Given the description of an element on the screen output the (x, y) to click on. 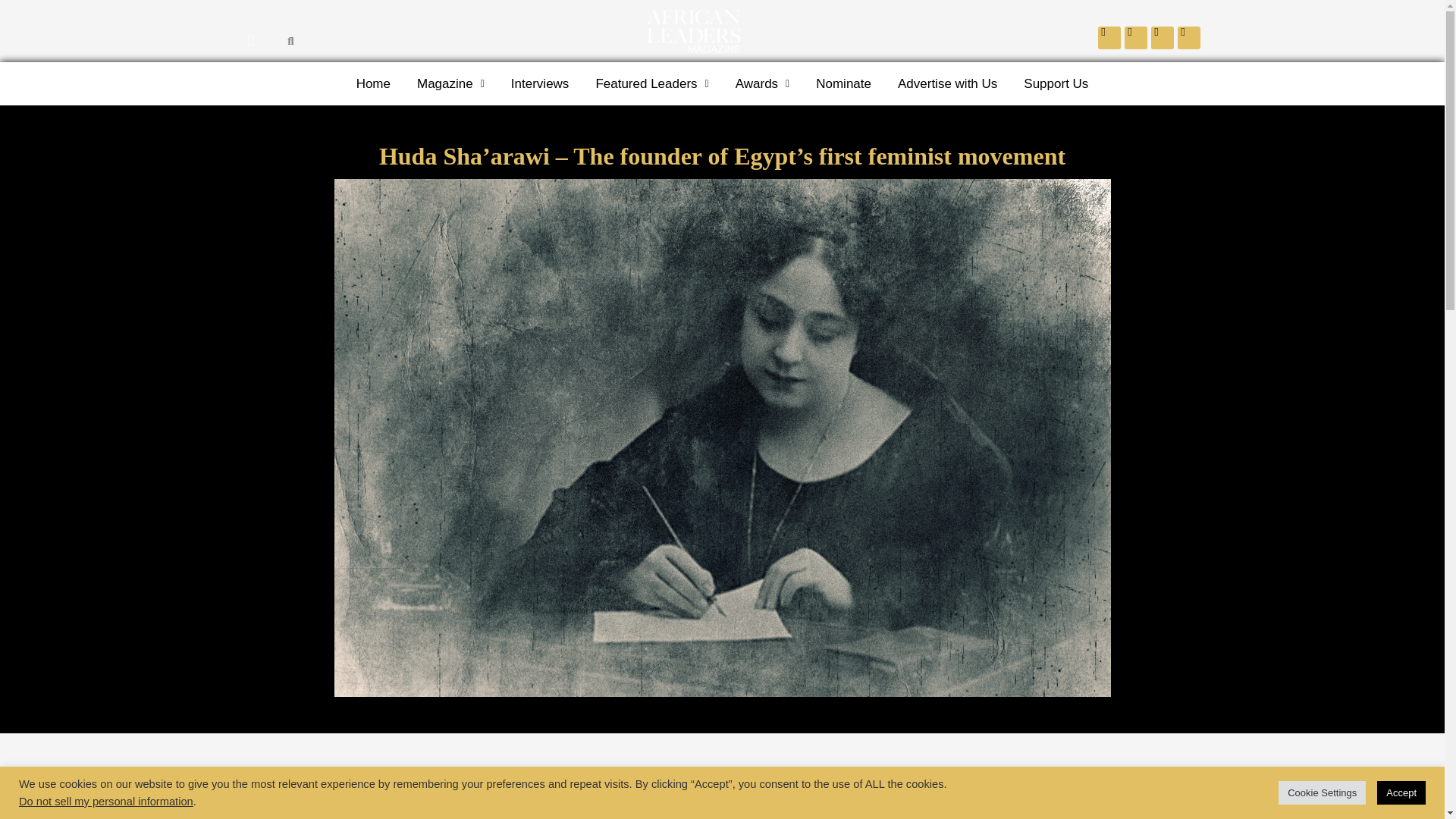
Featured Leaders (652, 83)
Facebook (1109, 37)
Home (373, 83)
Twitter (1135, 37)
Interviews (539, 83)
Search (281, 40)
Instagram (1187, 37)
Linkedin (1162, 37)
Magazine (450, 83)
